Given the description of an element on the screen output the (x, y) to click on. 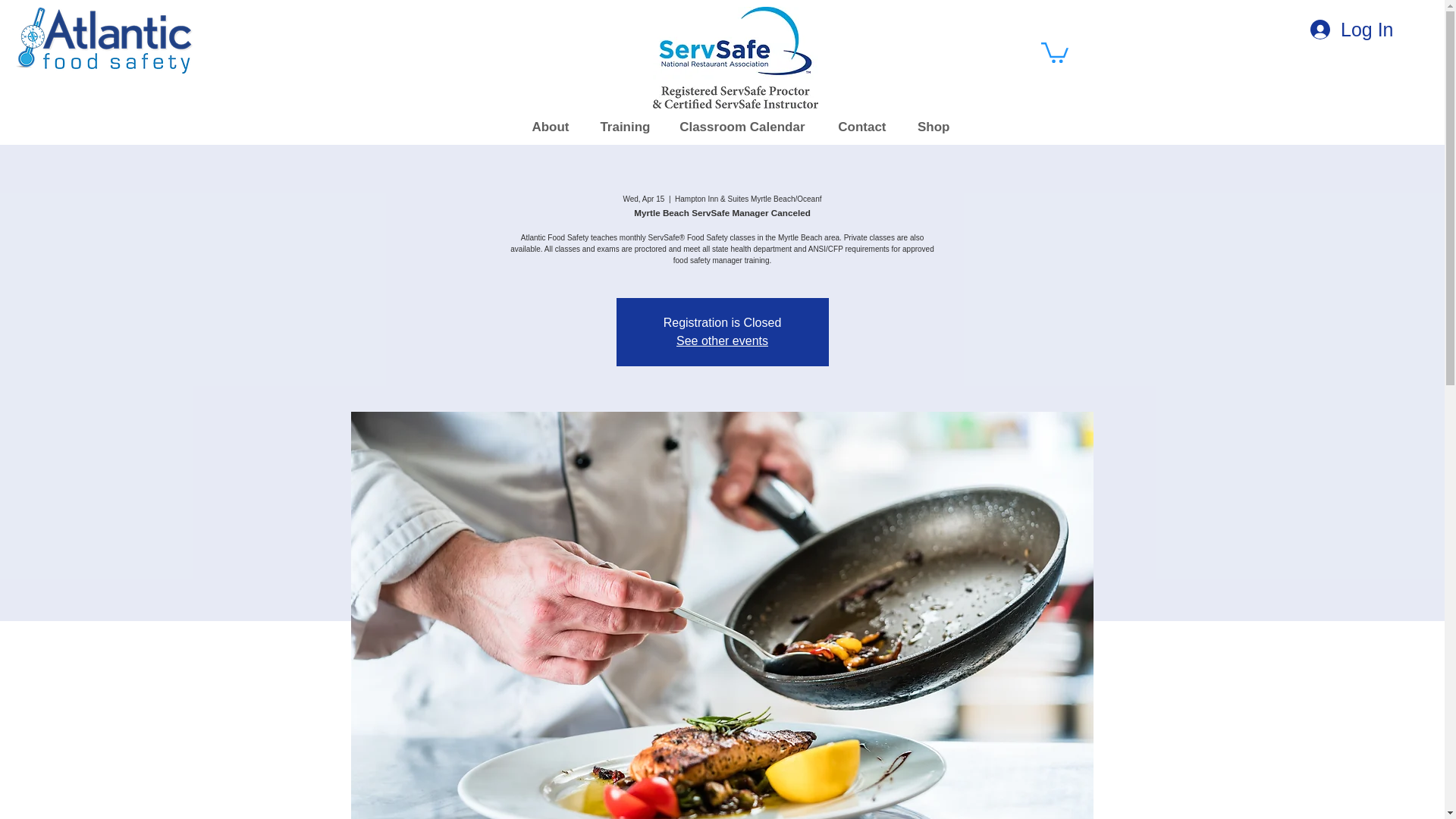
See other events (722, 340)
Training (621, 127)
Classroom Calendar (738, 127)
Log In (1352, 29)
About (544, 127)
Contact (855, 127)
